Given the description of an element on the screen output the (x, y) to click on. 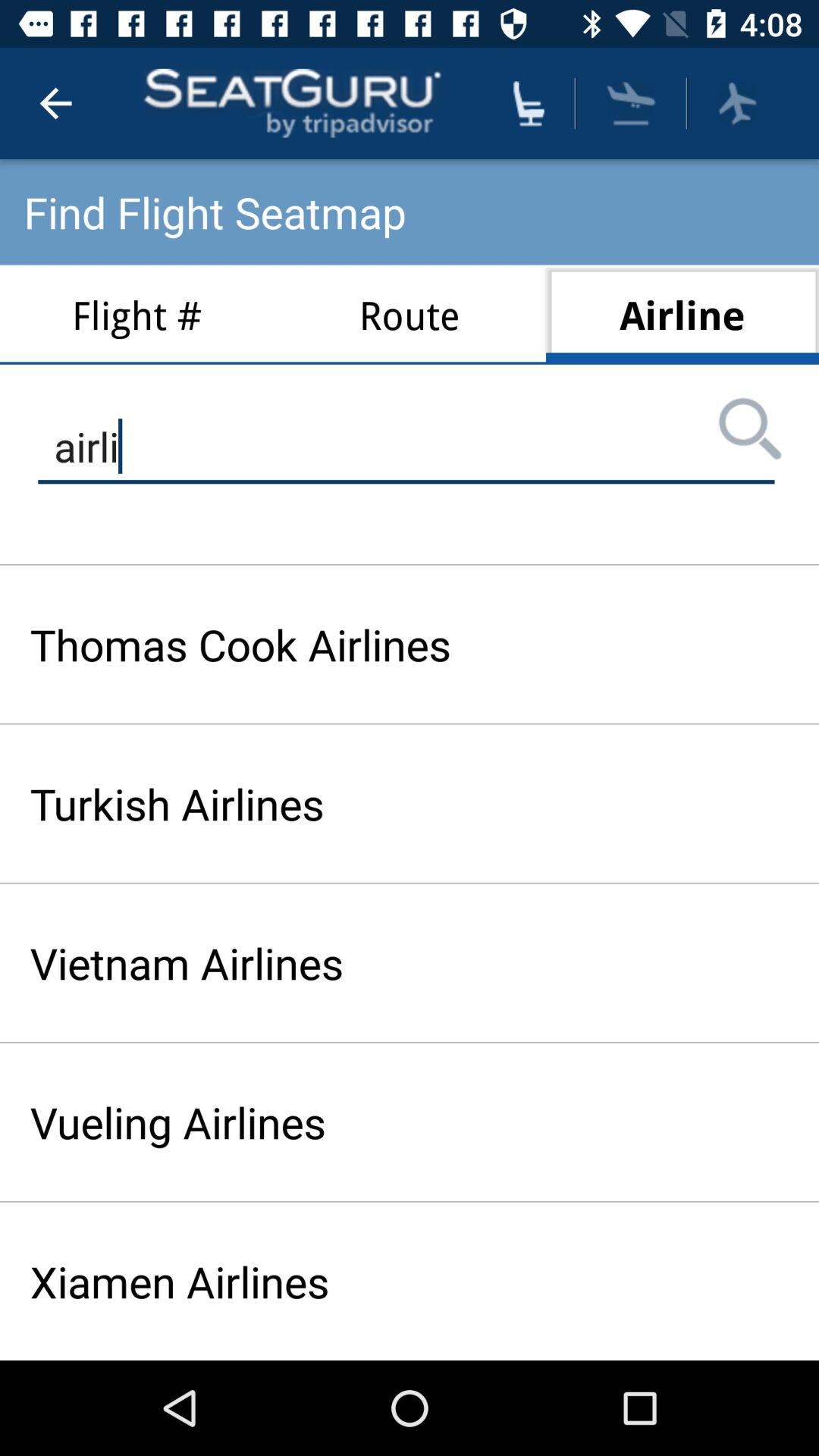
view seating arrangements (528, 103)
